Given the description of an element on the screen output the (x, y) to click on. 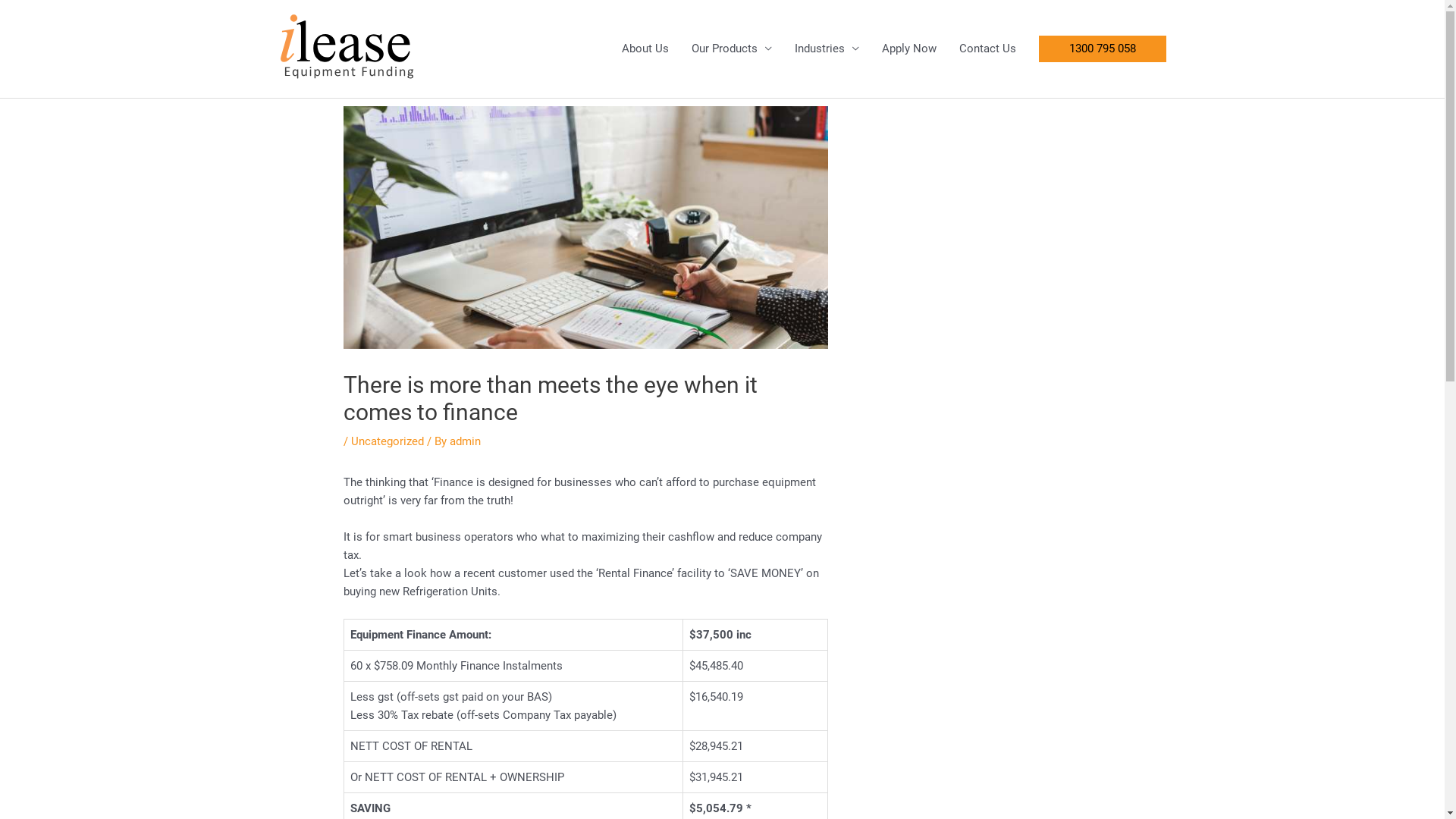
1300 795 058 Element type: text (1102, 48)
Our Products Element type: text (730, 48)
Apply Now Element type: text (908, 48)
admin Element type: text (464, 441)
Industries Element type: text (825, 48)
About Us Element type: text (644, 48)
Uncategorized Element type: text (387, 441)
Contact Us Element type: text (987, 48)
